Given the description of an element on the screen output the (x, y) to click on. 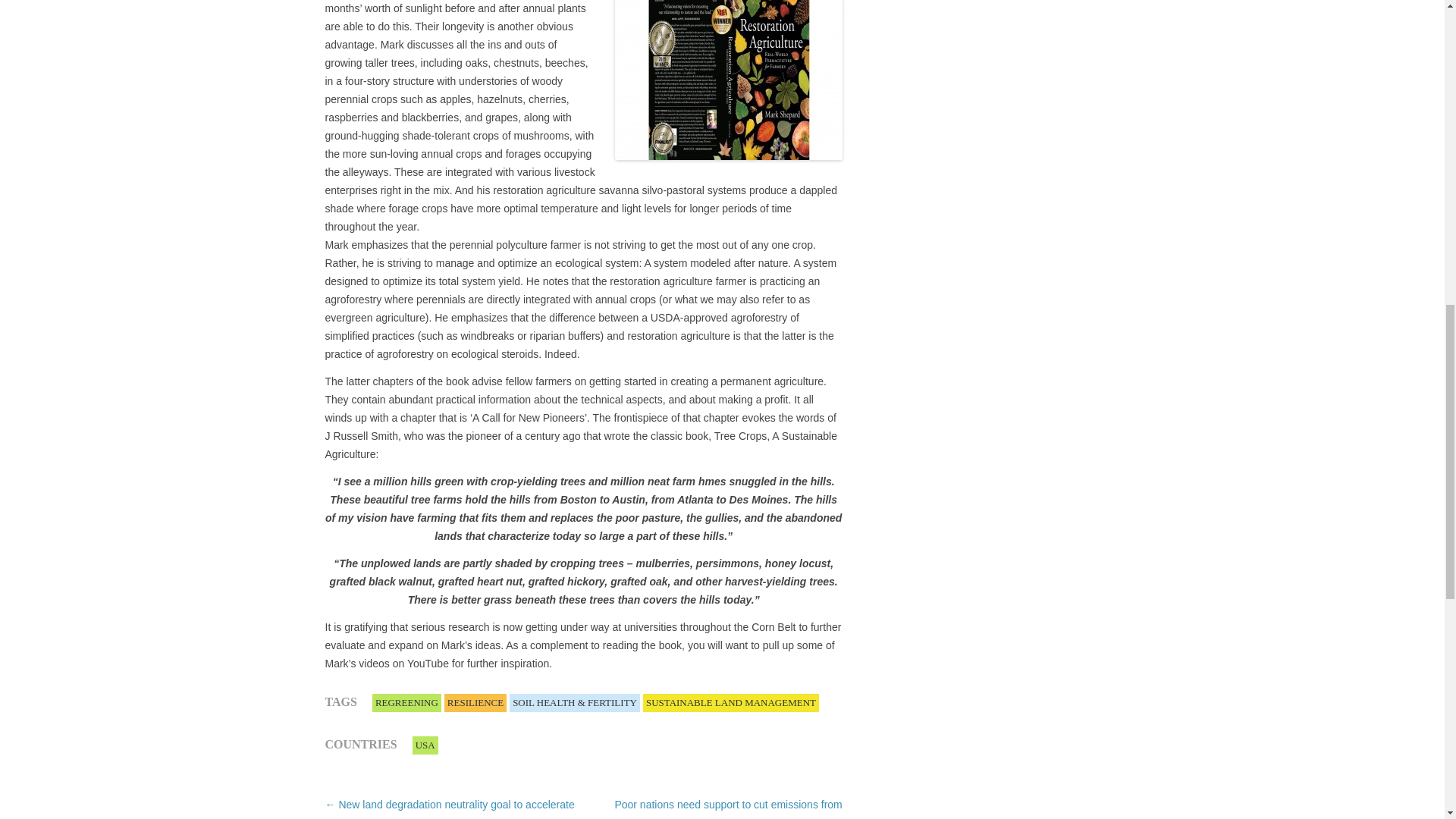
USA (424, 745)
RESILIENCE (474, 702)
REGREENING (406, 702)
SUSTAINABLE LAND MANAGEMENT (730, 702)
